Given the description of an element on the screen output the (x, y) to click on. 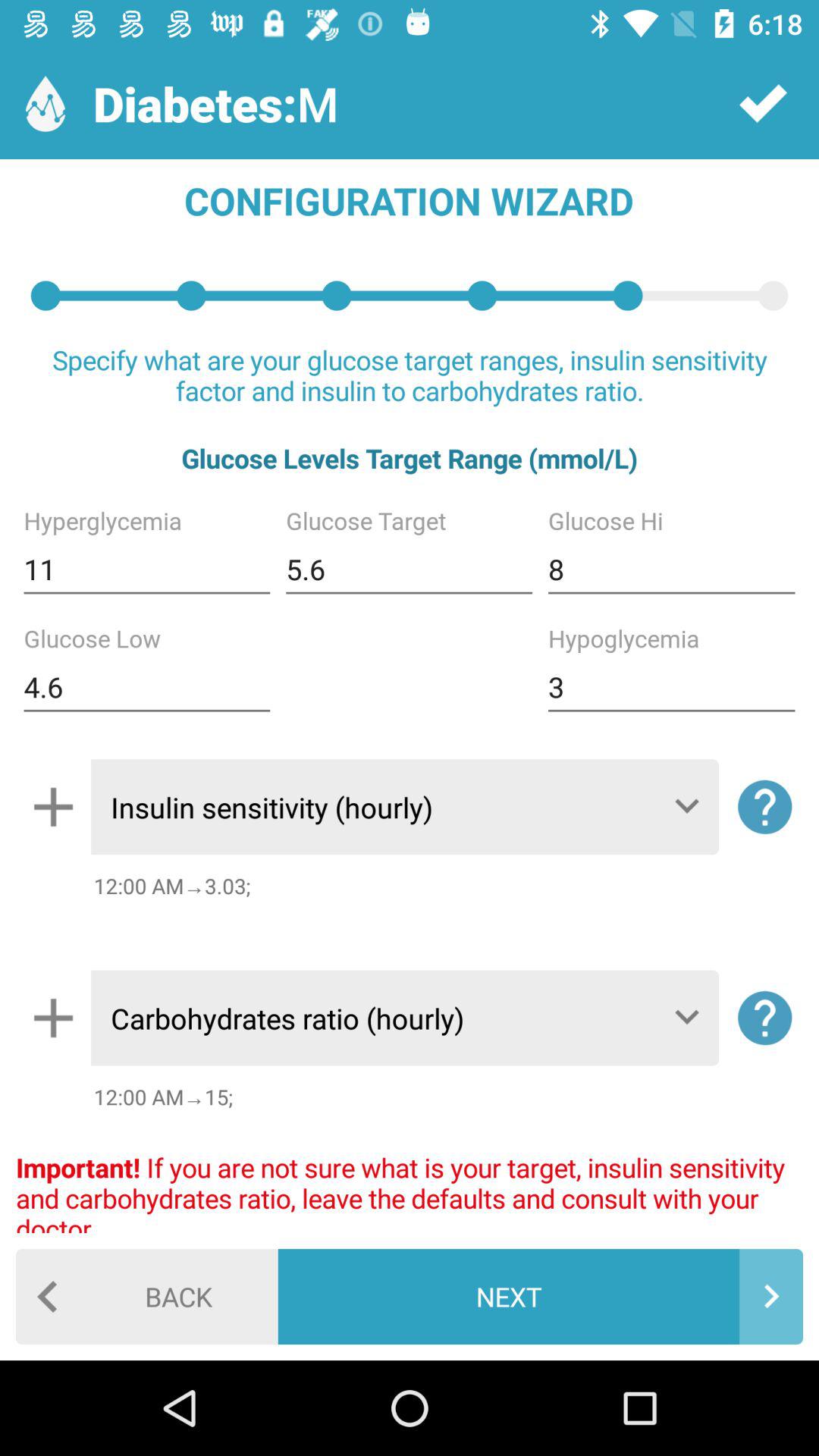
select the item below glucose levels target (146, 569)
